Given the description of an element on the screen output the (x, y) to click on. 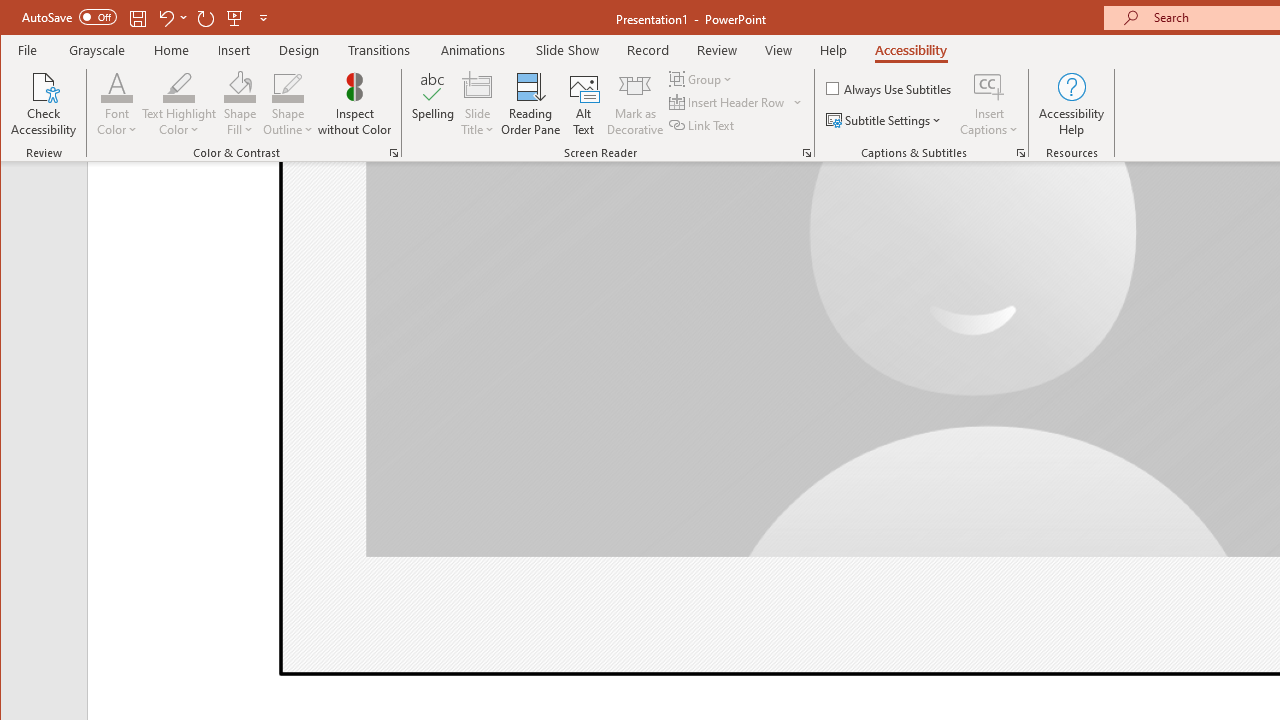
Reading Order Pane (531, 104)
Inspect without Color (355, 104)
